Given the description of an element on the screen output the (x, y) to click on. 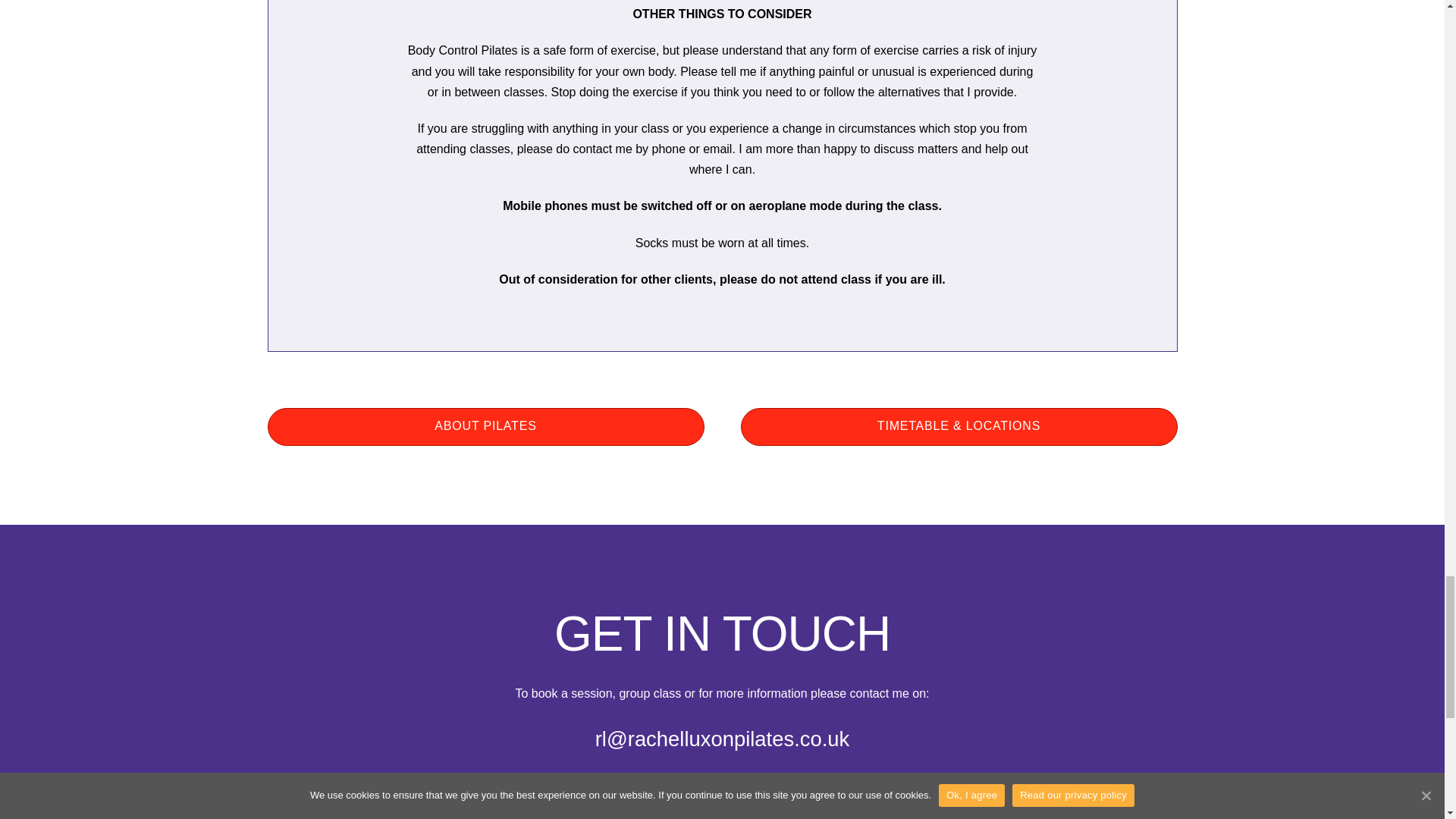
About Pilates (484, 426)
Timetable and locations (957, 426)
